Given the description of an element on the screen output the (x, y) to click on. 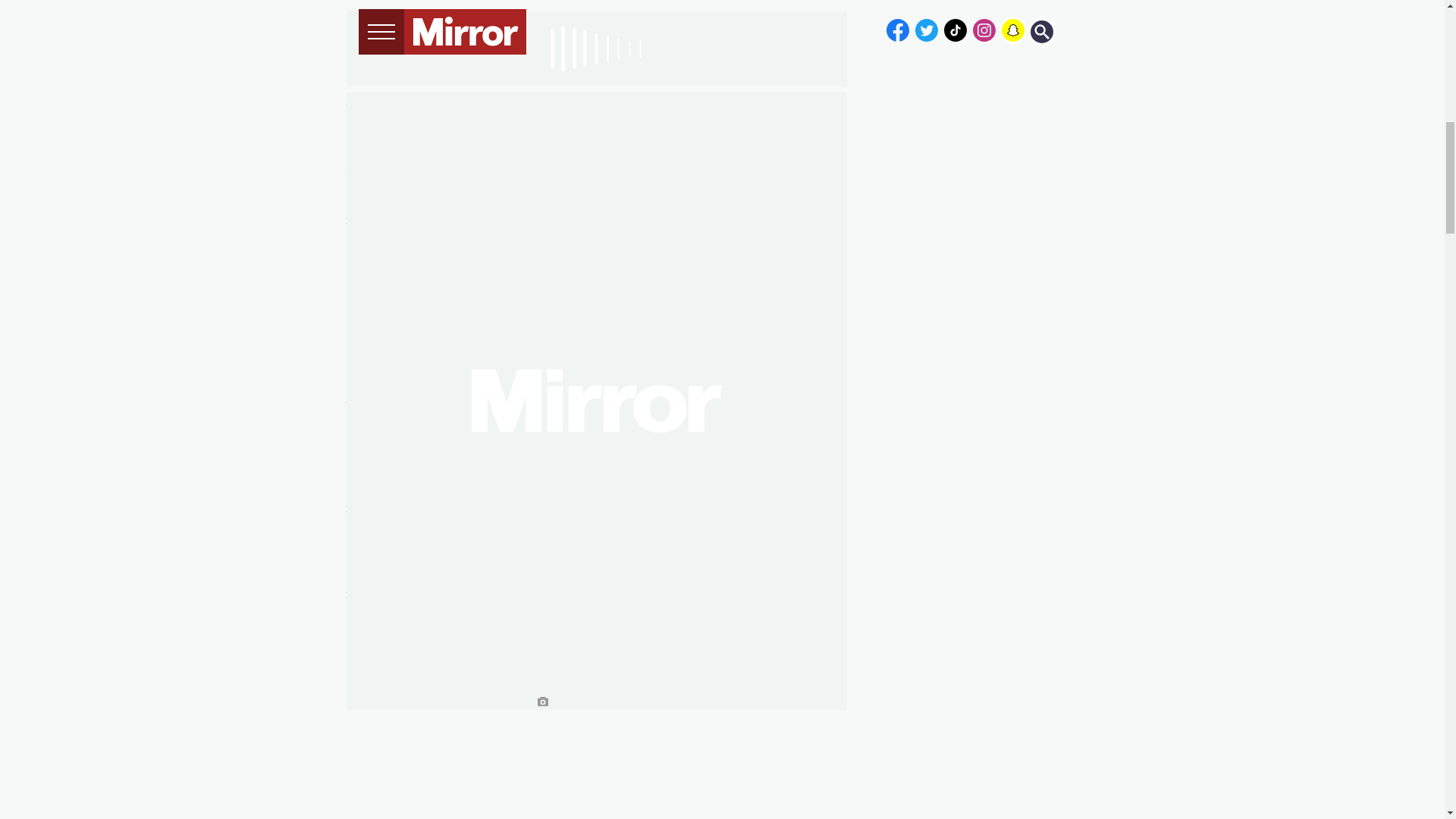
Christmas (447, 119)
sex worker (458, 101)
West Yorkshire Police (412, 406)
hospital (411, 192)
Police (365, 146)
